Given the description of an element on the screen output the (x, y) to click on. 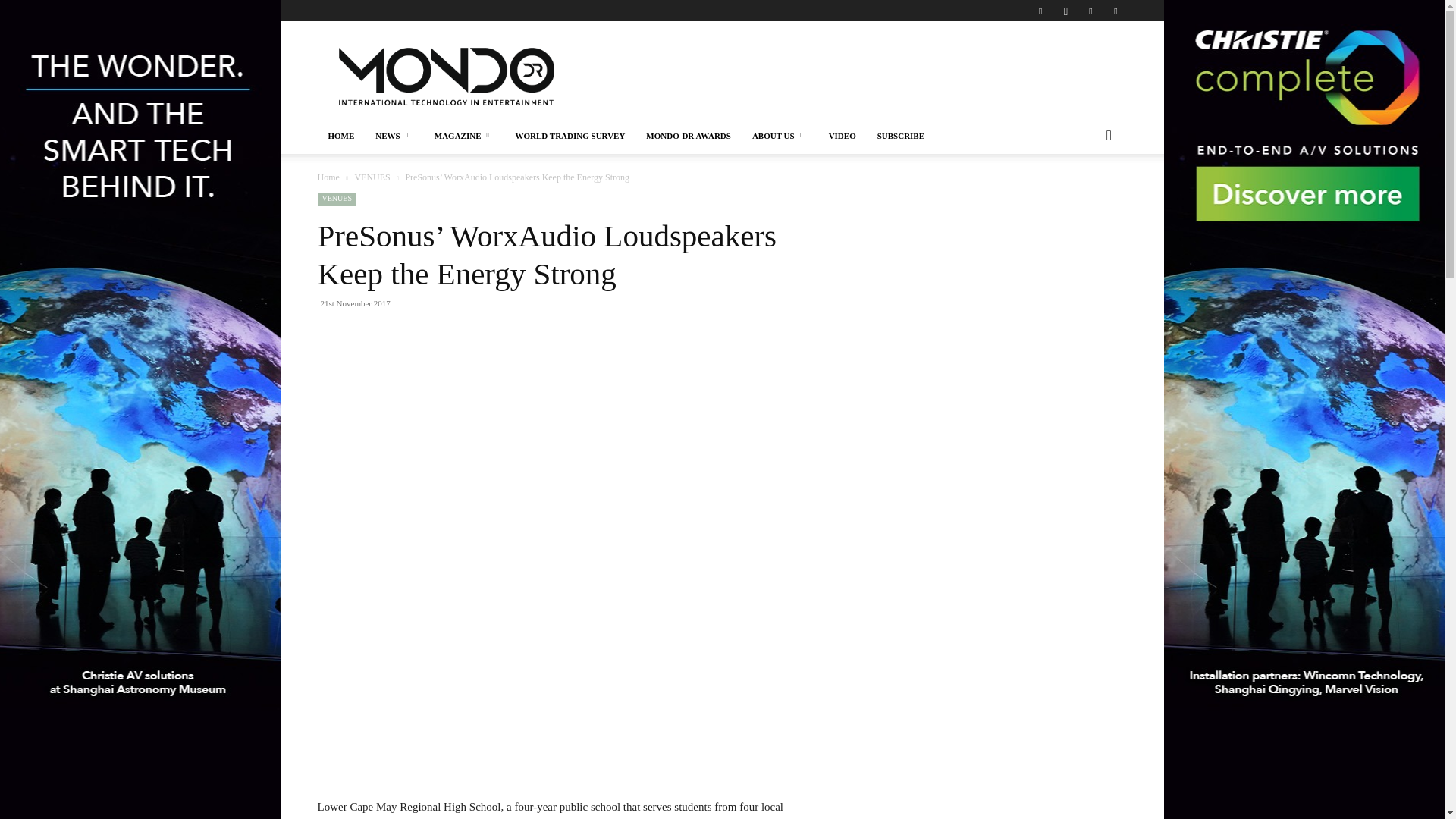
Facebook (1040, 10)
View all posts in VENUES (371, 176)
Linkedin (1090, 10)
Instagram (1065, 10)
Twitter (1114, 10)
HOME (341, 135)
MAGAZINE (464, 135)
WORLD TRADING SURVEY (568, 135)
NEWS (394, 135)
